Given the description of an element on the screen output the (x, y) to click on. 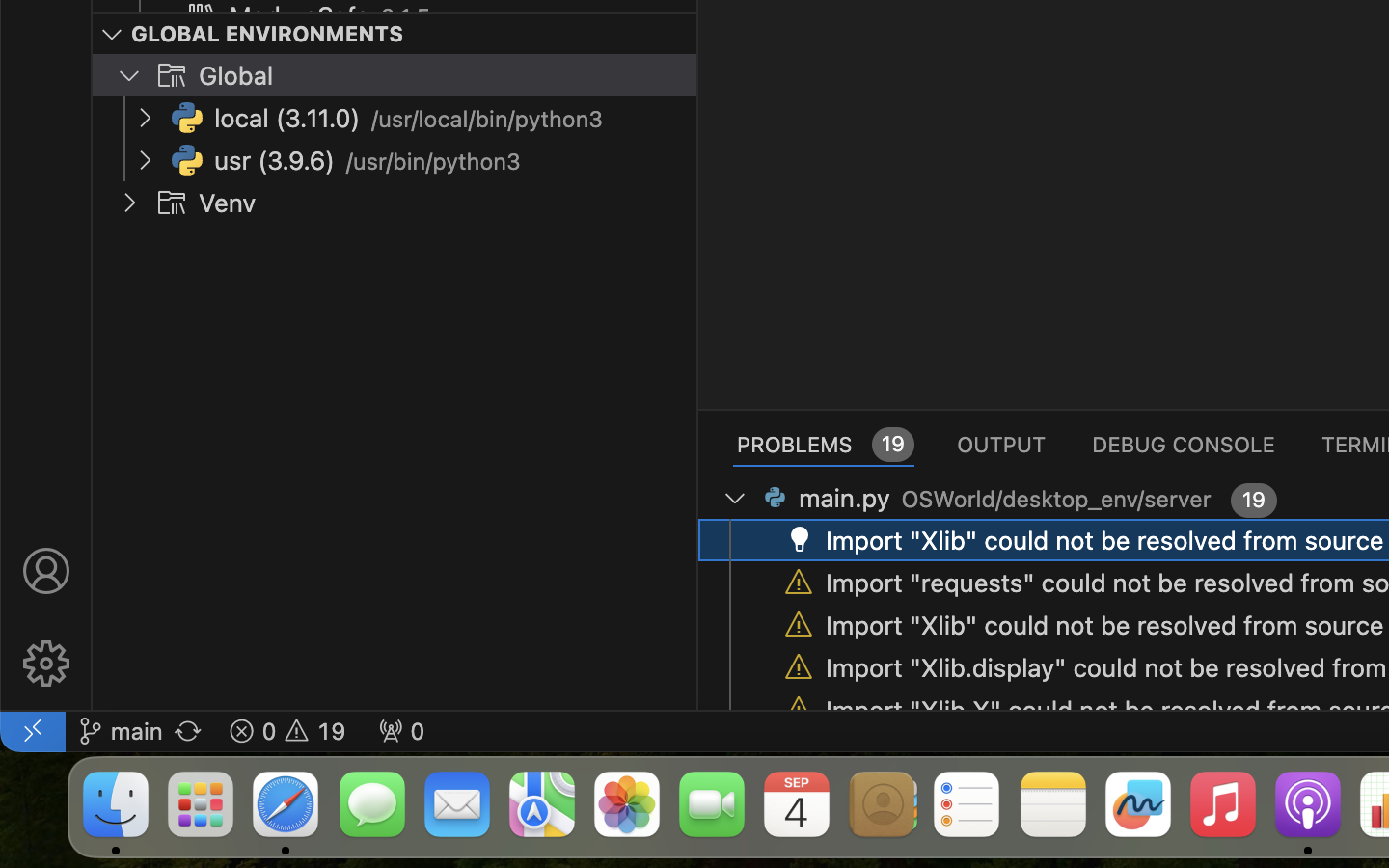
Global Element type: AXStaticText (235, 75)
